Given the description of an element on the screen output the (x, y) to click on. 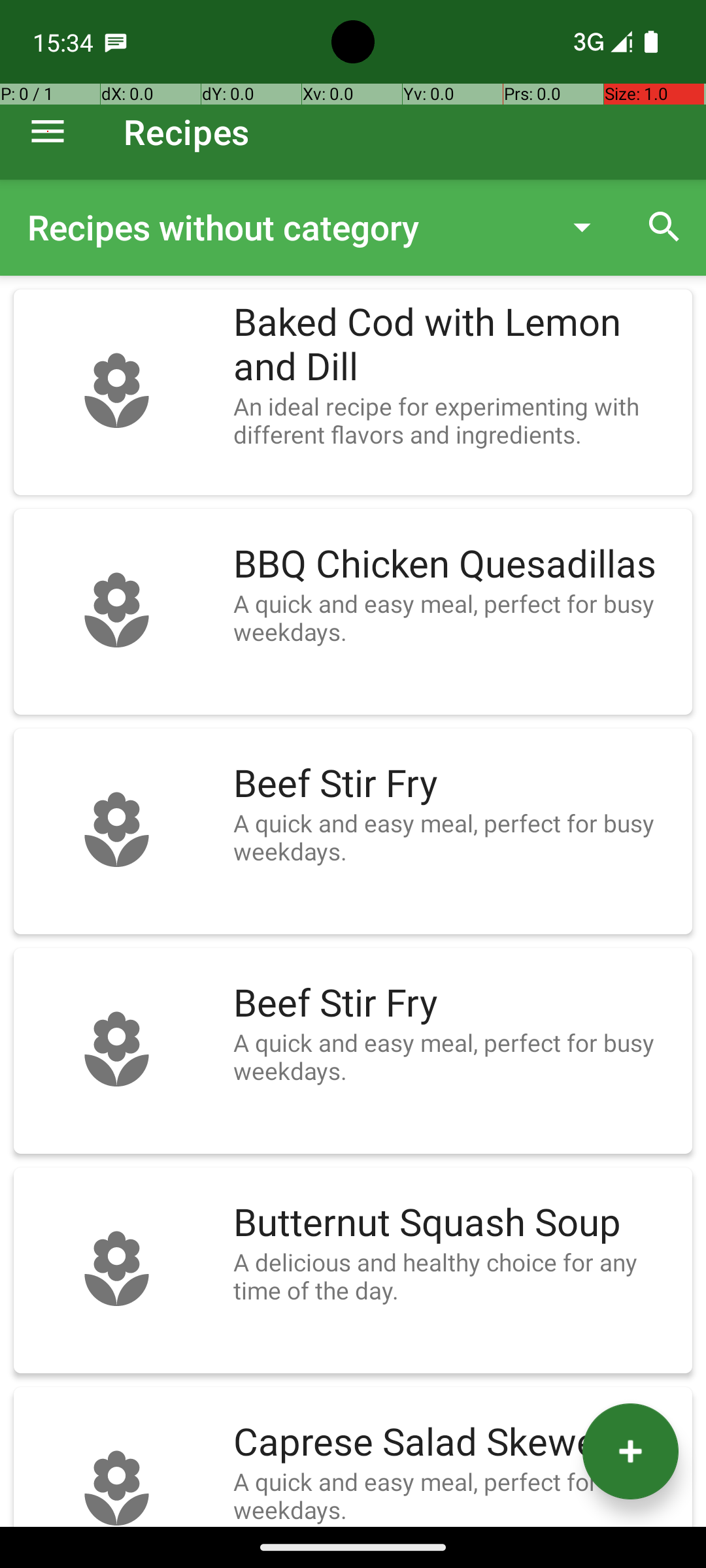
Recipes without category Element type: android.widget.TextView (283, 226)
Baked Cod with Lemon and Dill Element type: android.widget.TextView (455, 344)
BBQ Chicken Quesadillas Element type: android.widget.TextView (455, 564)
Beef Stir Fry Element type: android.widget.TextView (455, 783)
Butternut Squash Soup Element type: android.widget.TextView (455, 1222)
